Given the description of an element on the screen output the (x, y) to click on. 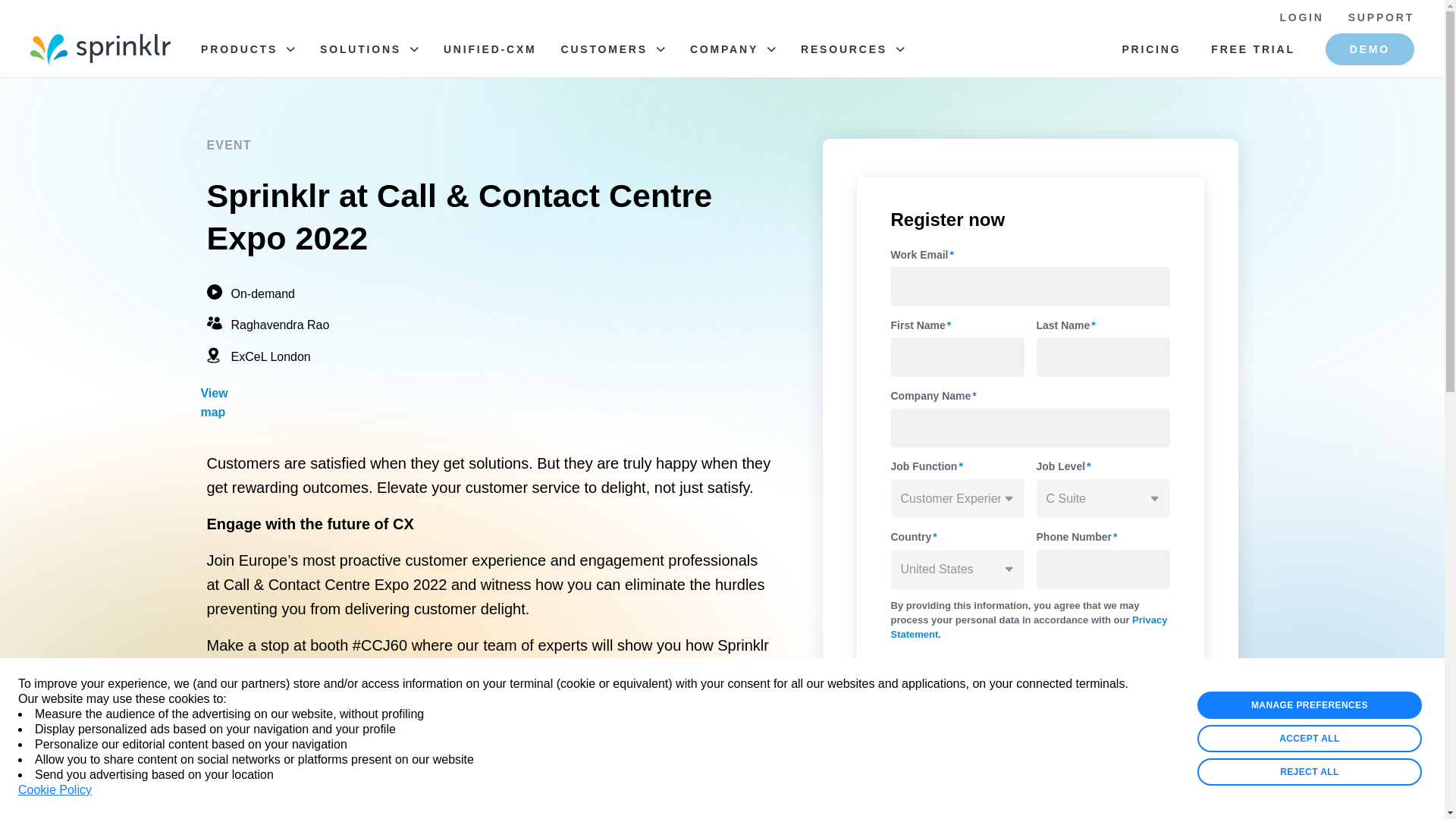
ACCEPT ALL (1309, 738)
LOGIN (1301, 17)
SUPPORT (1380, 17)
MANAGE PREFERENCES (1309, 705)
Cookie Policy (54, 789)
Sprinklr (100, 49)
PRODUCTS (247, 49)
Register (947, 678)
REJECT ALL (1309, 771)
